Given the description of an element on the screen output the (x, y) to click on. 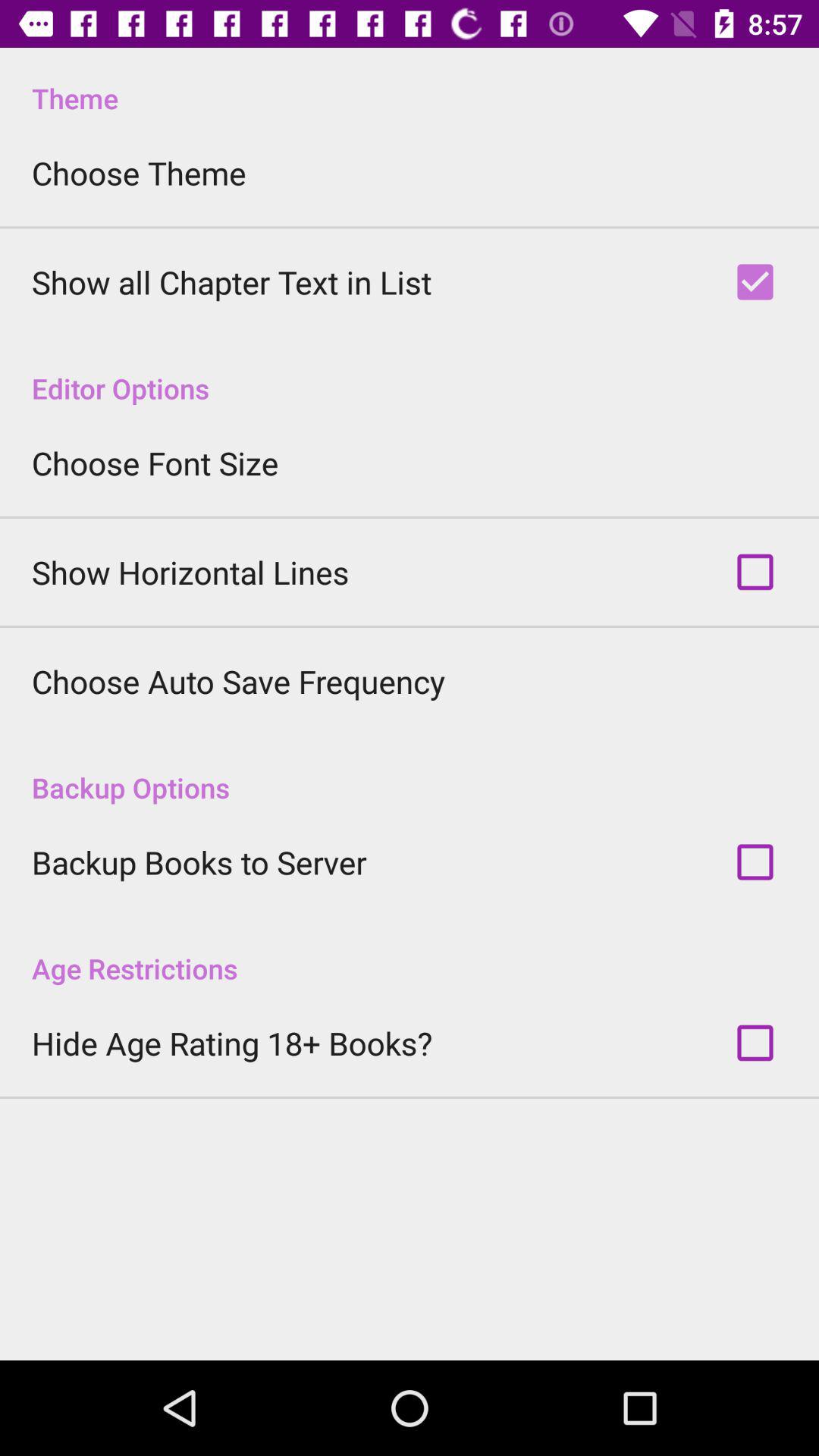
open the icon below backup options app (198, 861)
